Given the description of an element on the screen output the (x, y) to click on. 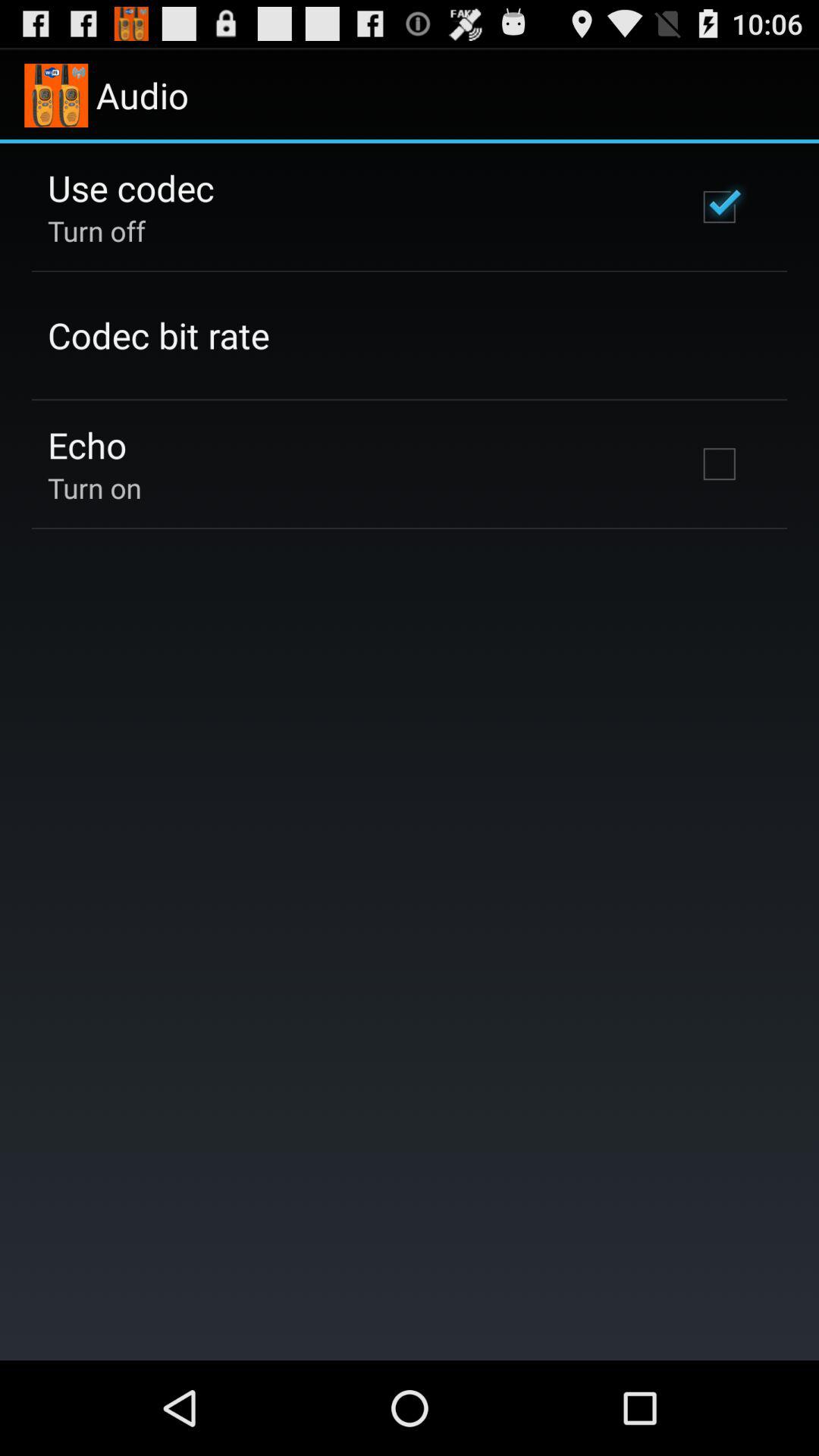
select the turn on icon (94, 487)
